Given the description of an element on the screen output the (x, y) to click on. 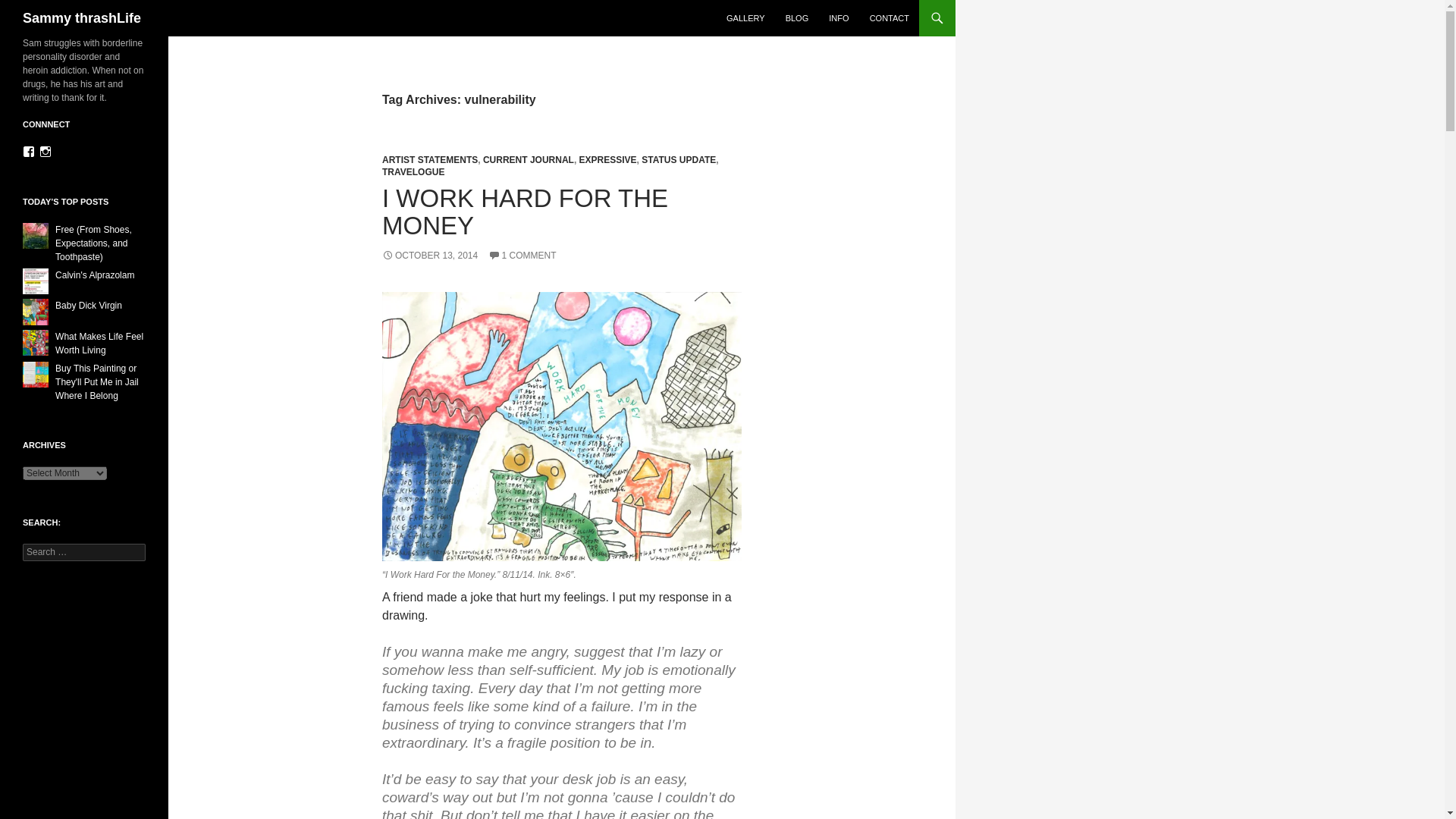
1 COMMENT (521, 255)
BLOG (797, 18)
EXPRESSIVE (608, 159)
I WORK HARD FOR THE MONEY (524, 211)
Sammy thrashLife (82, 18)
CONTACT (889, 18)
OCTOBER 13, 2014 (429, 255)
CURRENT JOURNAL (528, 159)
GALLERY (745, 18)
ARTIST STATEMENTS (429, 159)
